Given the description of an element on the screen output the (x, y) to click on. 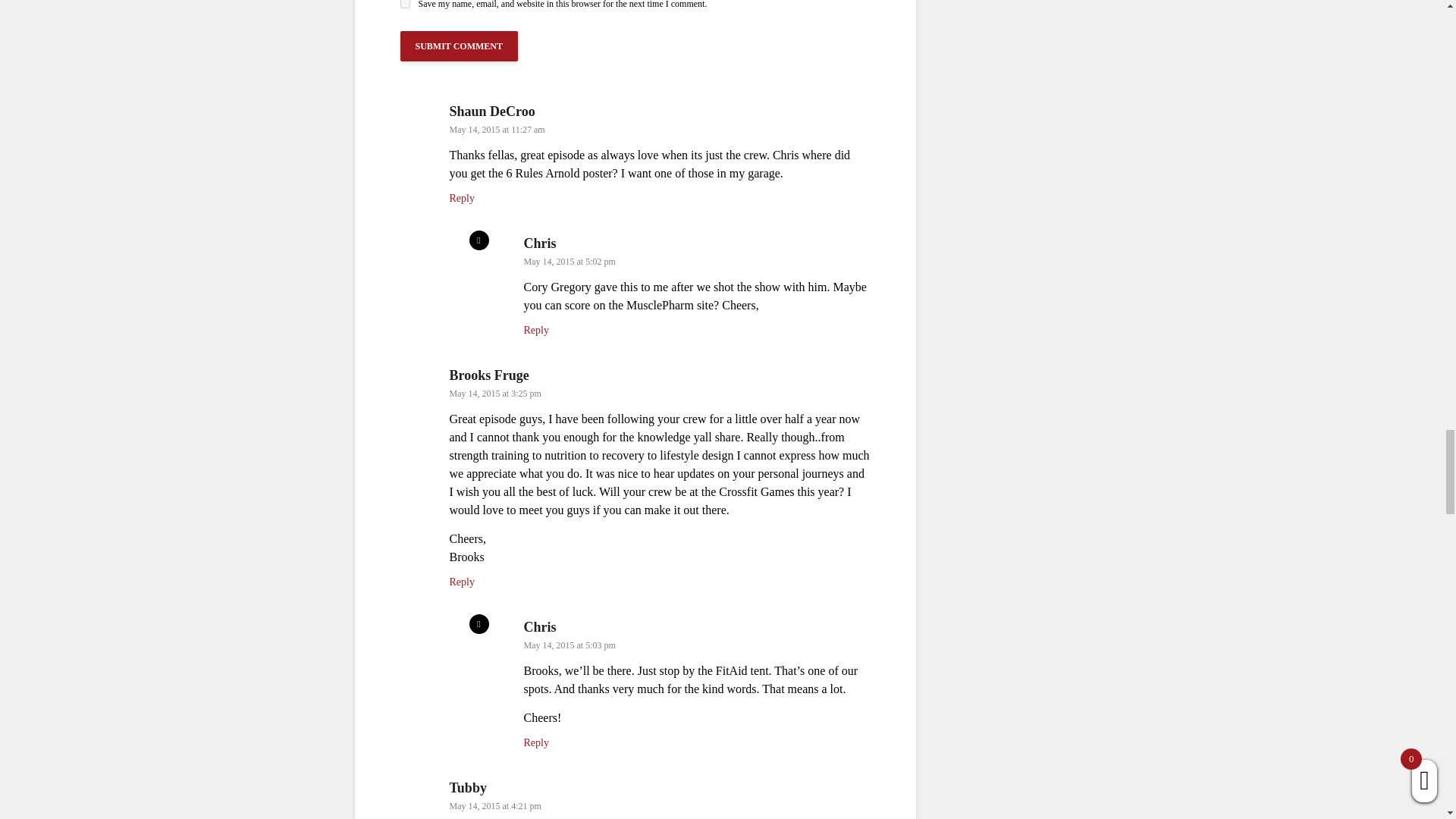
Reply (461, 582)
May 14, 2015 at 5:02 pm (568, 261)
May 14, 2015 at 3:25 pm (494, 393)
May 14, 2015 at 5:03 pm (568, 644)
Reply (535, 329)
yes (405, 4)
May 14, 2015 at 11:27 am (496, 129)
Reply (461, 197)
Submit Comment (459, 46)
Submit Comment (459, 46)
